Given the description of an element on the screen output the (x, y) to click on. 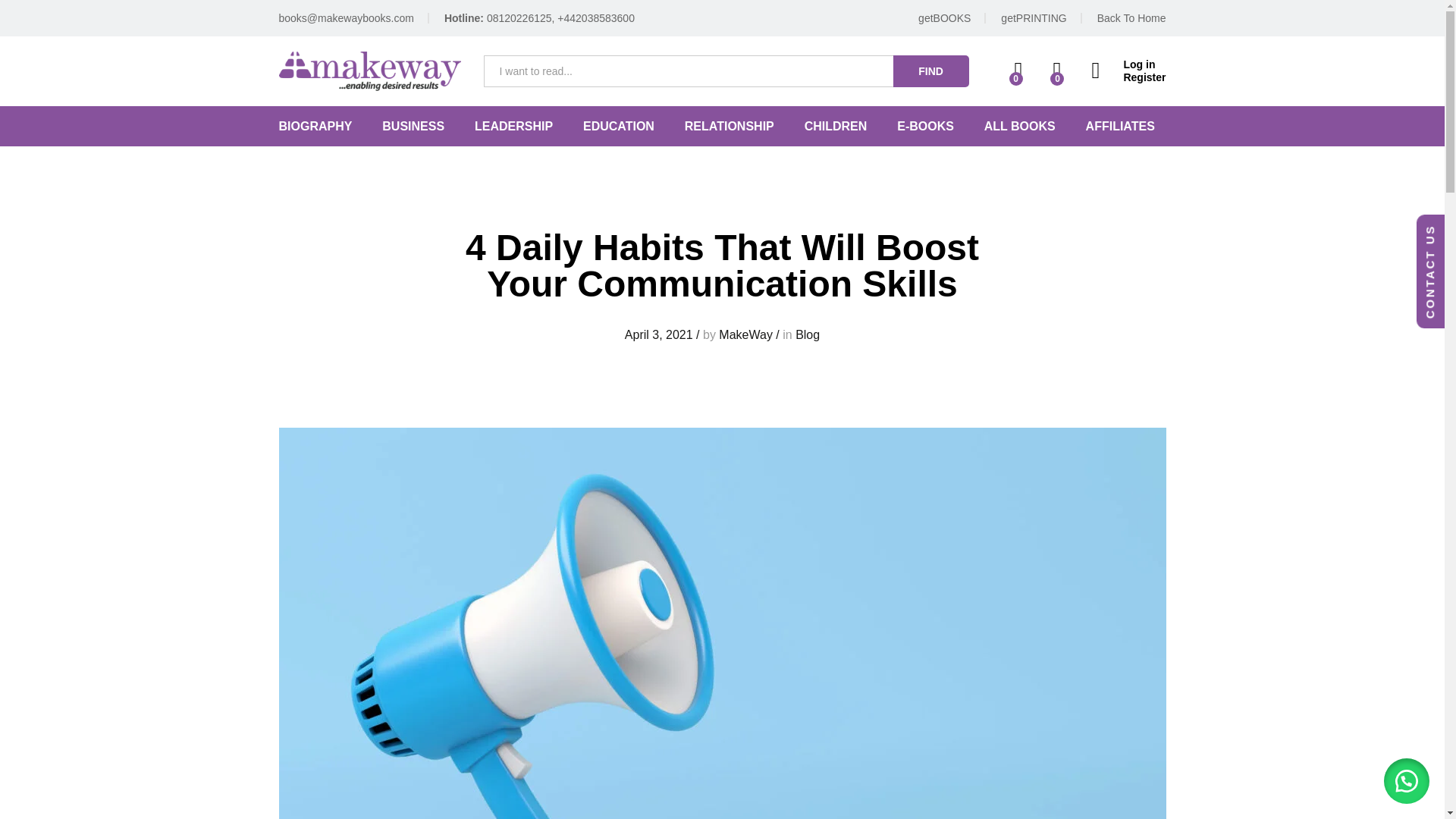
Register (1128, 77)
ALL BOOKS (1019, 126)
Log in (1128, 64)
FIND (931, 70)
AFFILIATES (1120, 126)
BIOGRAPHY (315, 126)
BUSINESS (412, 126)
EDUCATION (618, 126)
getBOOKS (944, 18)
LEADERSHIP (513, 126)
